Given the description of an element on the screen output the (x, y) to click on. 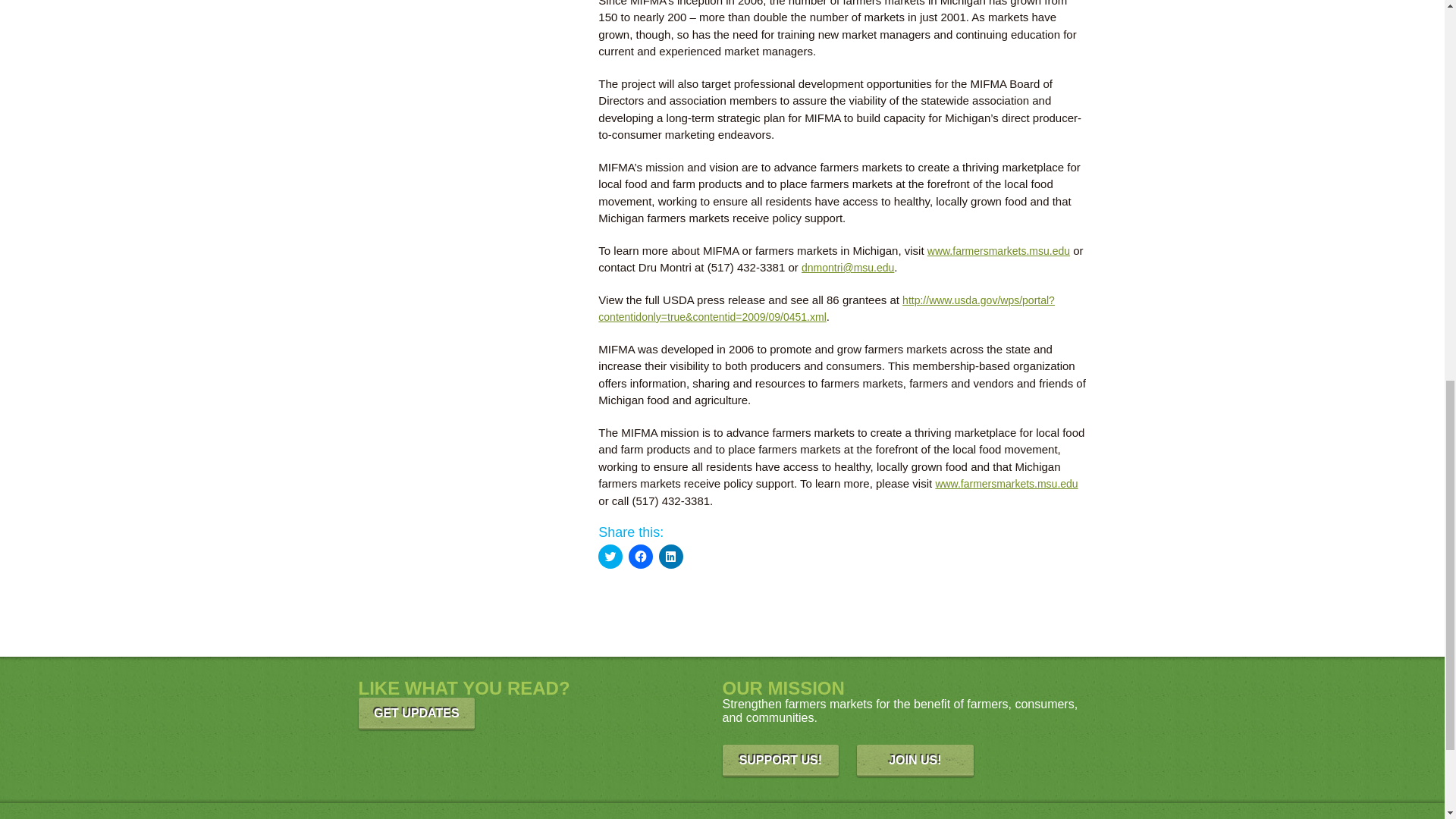
Click to share on Facebook (640, 556)
Click to share on LinkedIn (670, 556)
Click to share on Twitter (610, 556)
